Given the description of an element on the screen output the (x, y) to click on. 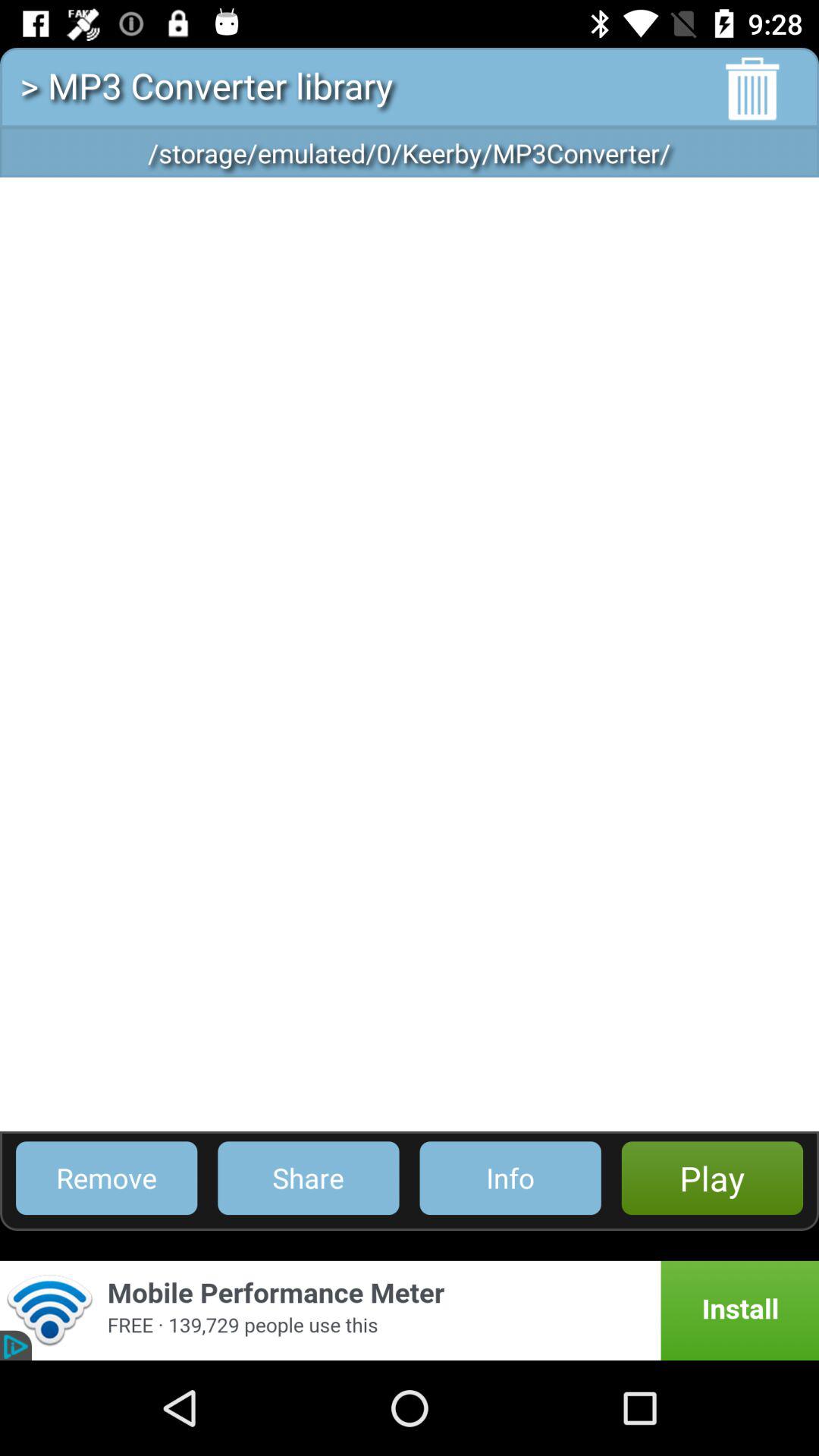
launch the item next to the play icon (510, 1177)
